Given the description of an element on the screen output the (x, y) to click on. 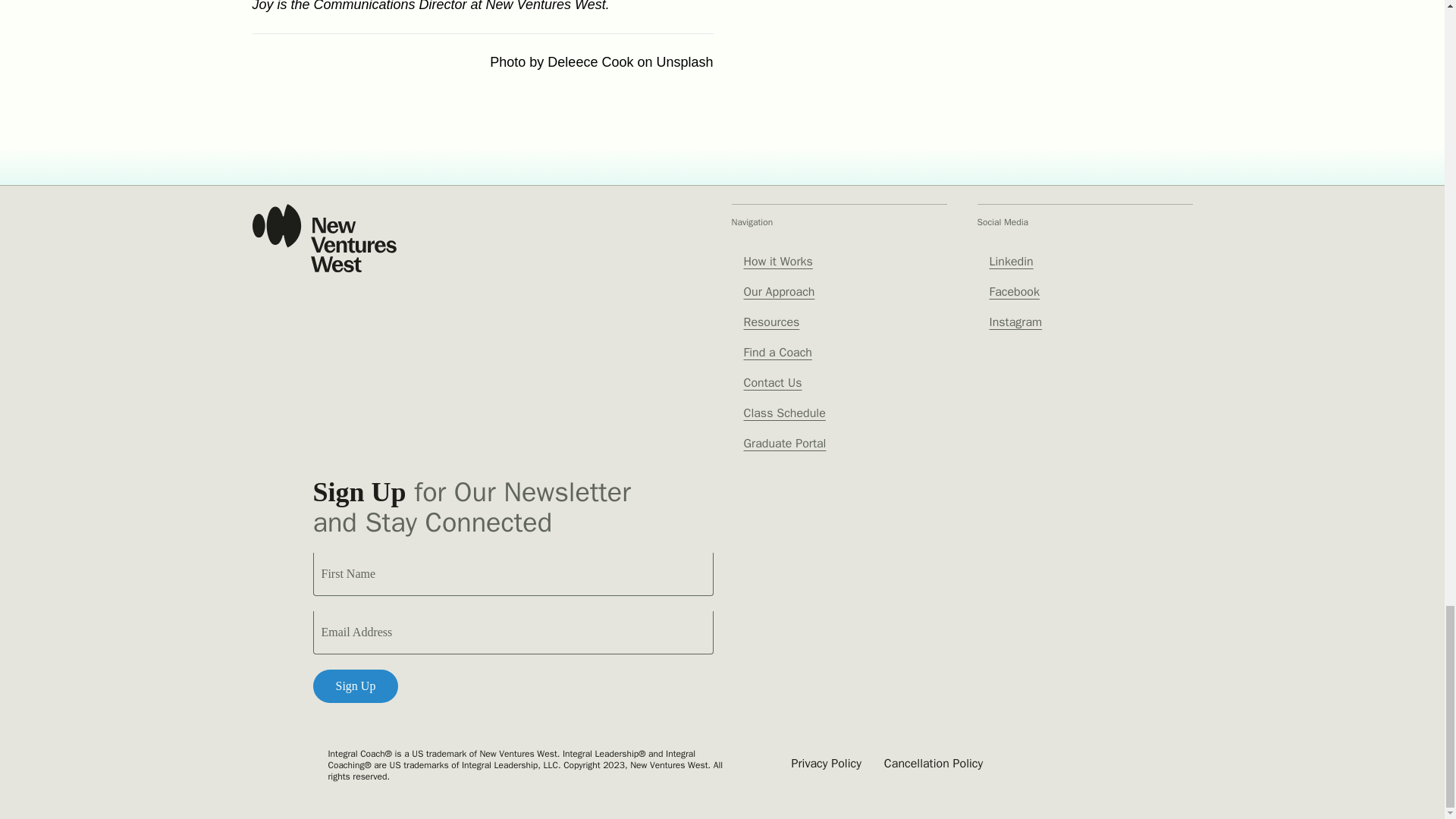
Joy (262, 6)
Unsplash (684, 61)
Our Approach (777, 291)
Sign Up (355, 685)
How it Works (777, 261)
Deleece Cook (590, 61)
